Given the description of an element on the screen output the (x, y) to click on. 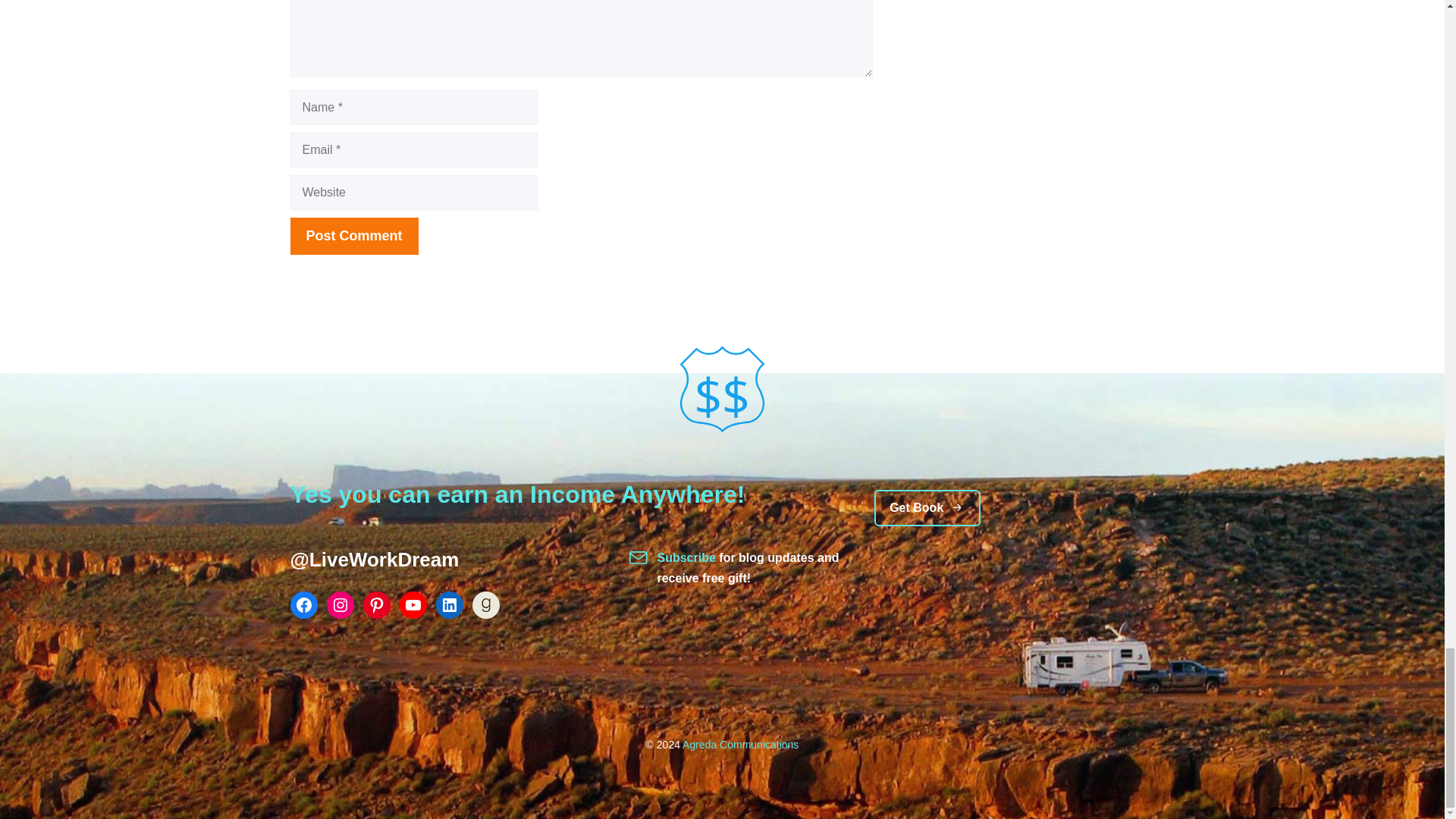
Post Comment (353, 235)
